Given the description of an element on the screen output the (x, y) to click on. 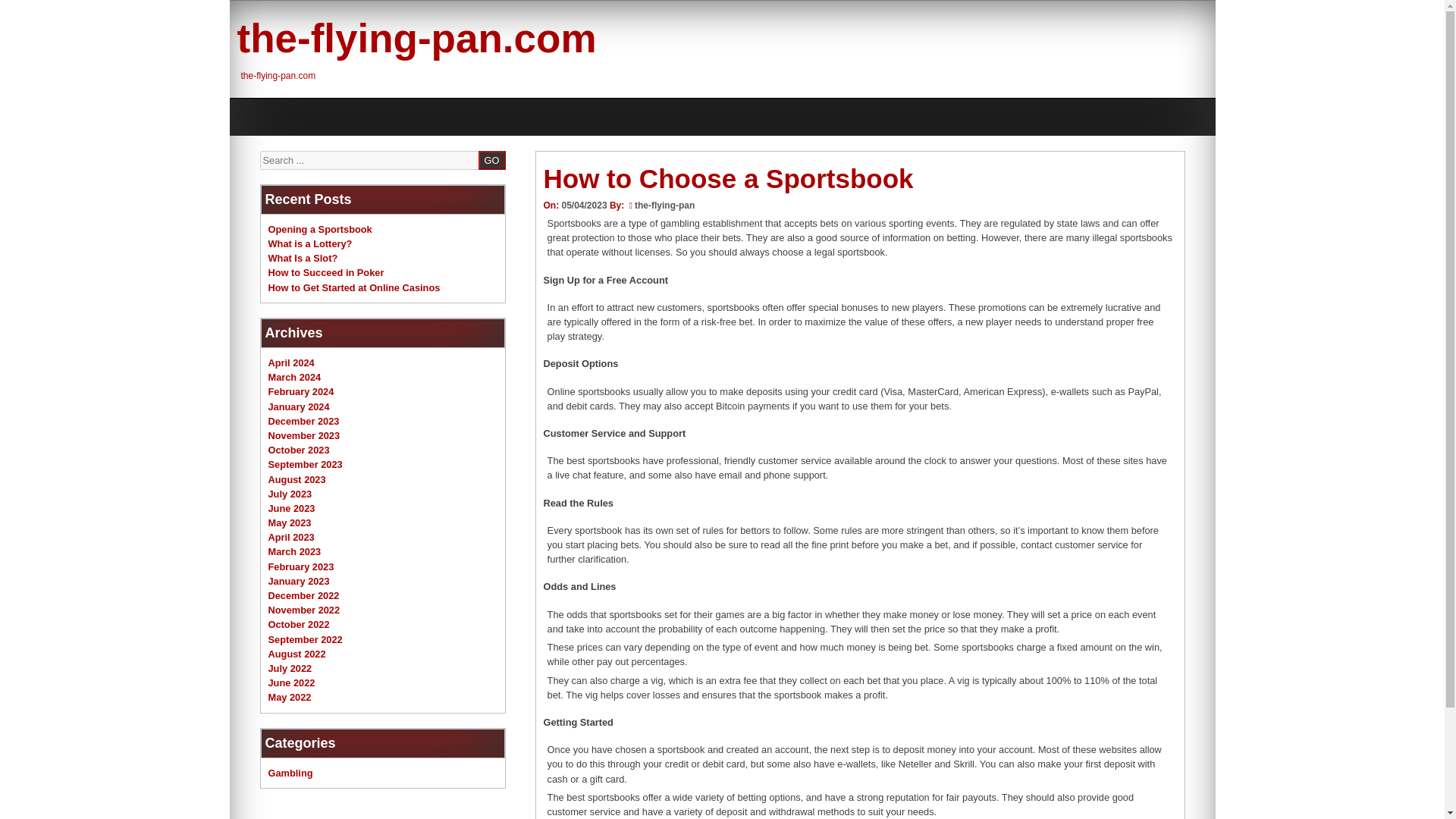
GO (492, 158)
April 2023 (290, 536)
July 2022 (290, 668)
November 2023 (303, 435)
November 2022 (303, 609)
How to Succeed in Poker (325, 272)
June 2023 (291, 508)
GO (492, 158)
May 2022 (289, 696)
February 2023 (300, 566)
